Given the description of an element on the screen output the (x, y) to click on. 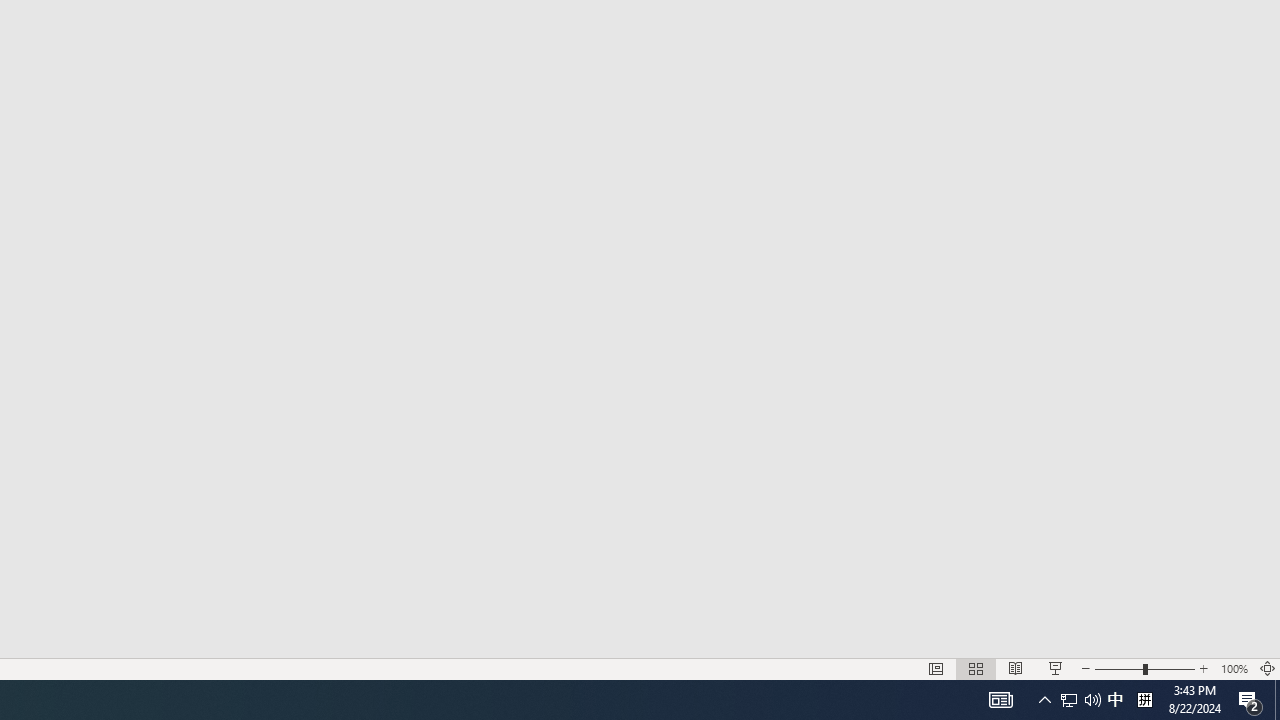
Zoom 100% (1234, 668)
